Given the description of an element on the screen output the (x, y) to click on. 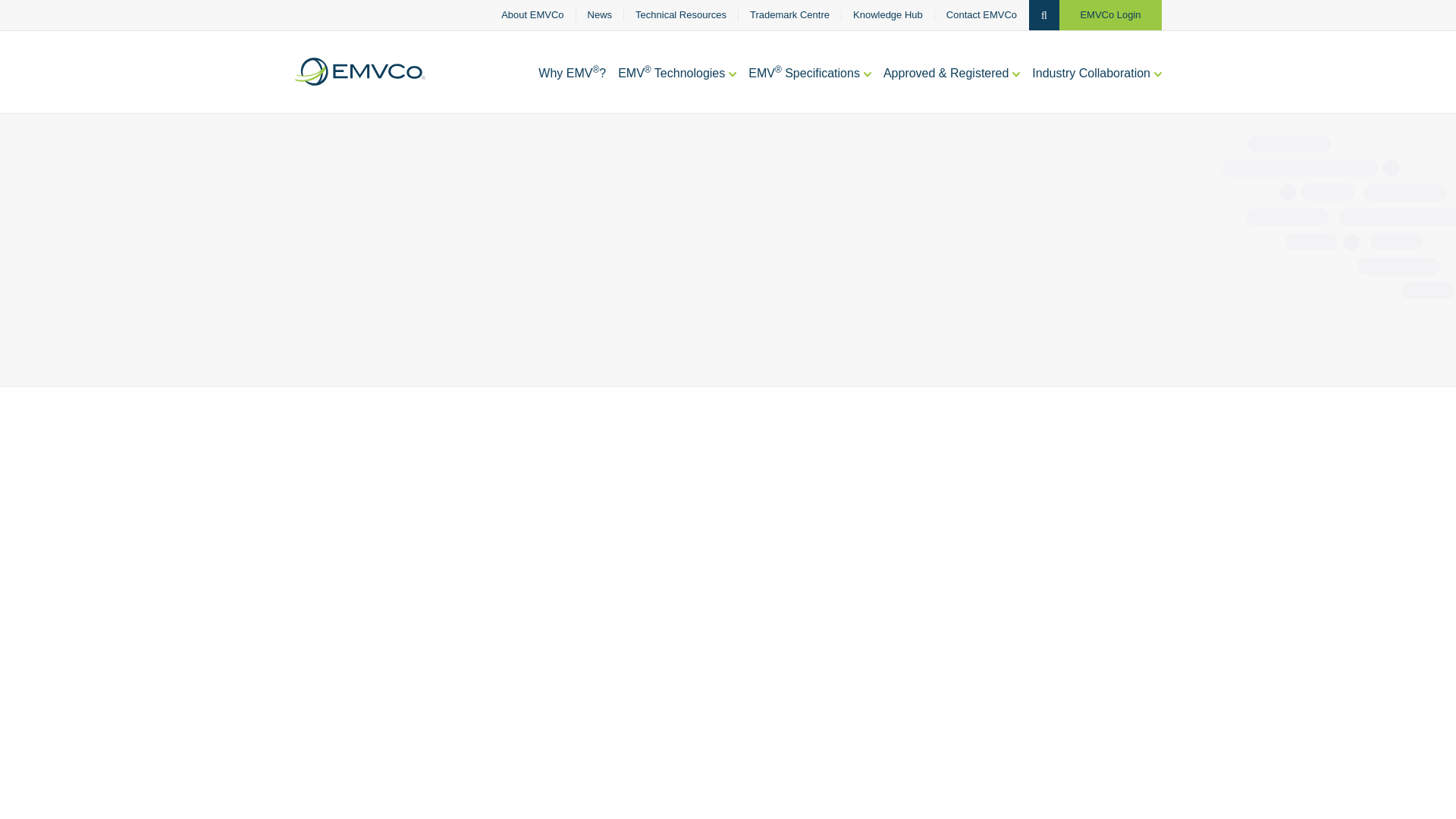
Knowledge Hub (888, 15)
EMVCo Login (1110, 15)
EMVCo Logo (360, 71)
Trademark Centre (789, 15)
Industry Collaboration (1096, 89)
News (600, 15)
Contact EMVCo (981, 15)
Technical Resources (680, 15)
About EMVCo (531, 15)
